Given the description of an element on the screen output the (x, y) to click on. 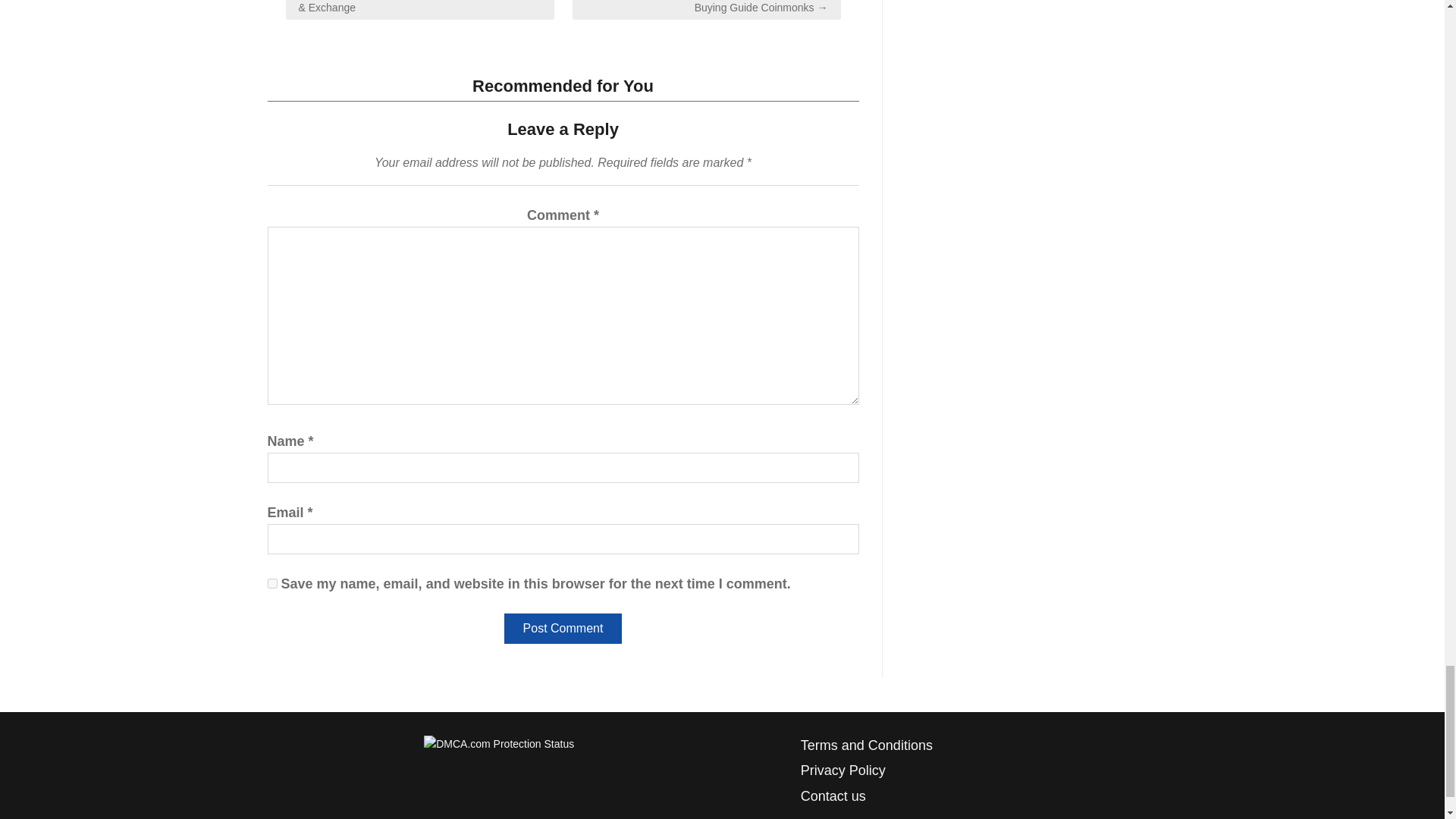
Post Comment (563, 628)
yes (271, 583)
DMCA.com Protection Status (498, 743)
